Given the description of an element on the screen output the (x, y) to click on. 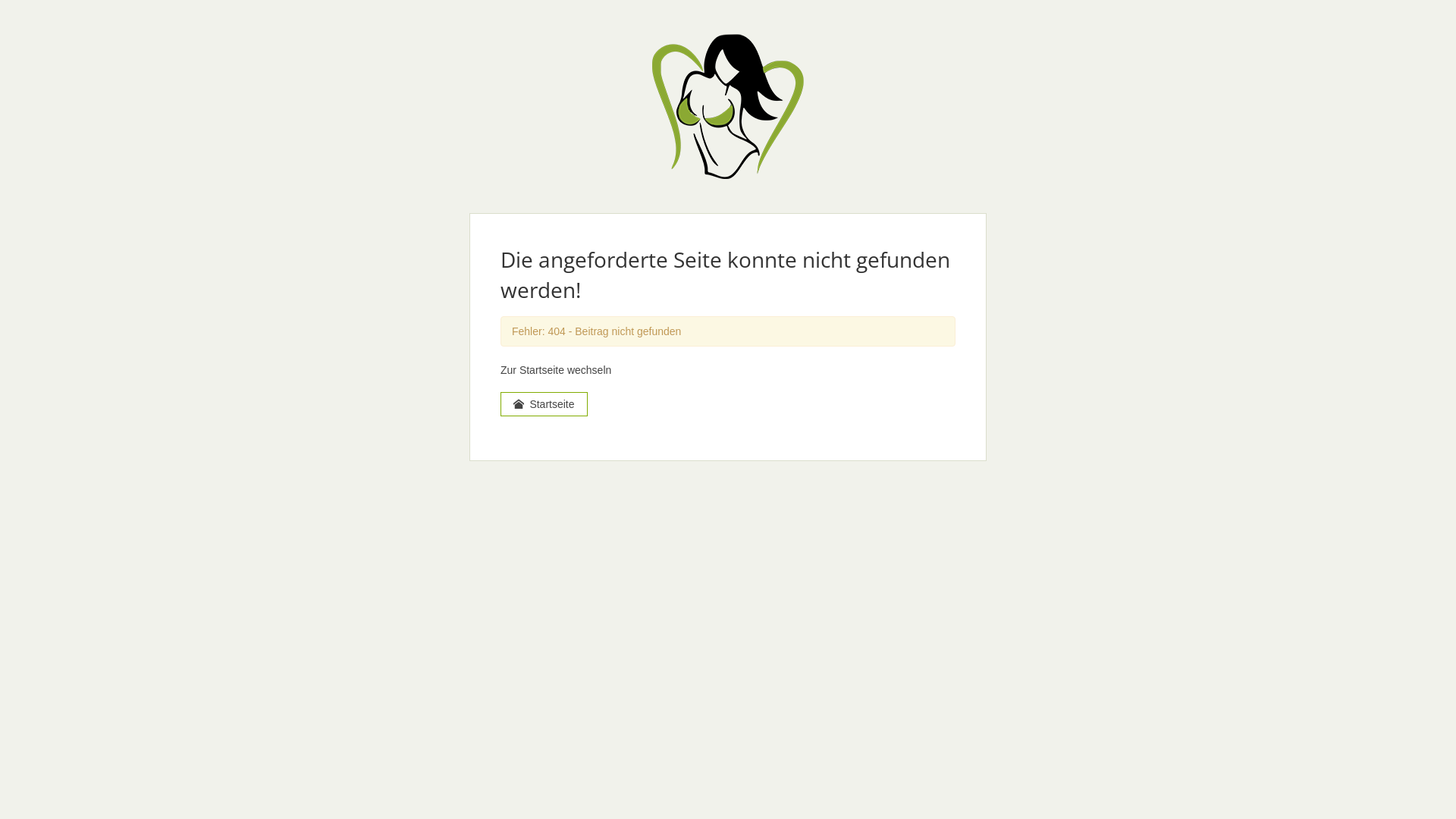
Startseite Element type: text (543, 404)
